Given the description of an element on the screen output the (x, y) to click on. 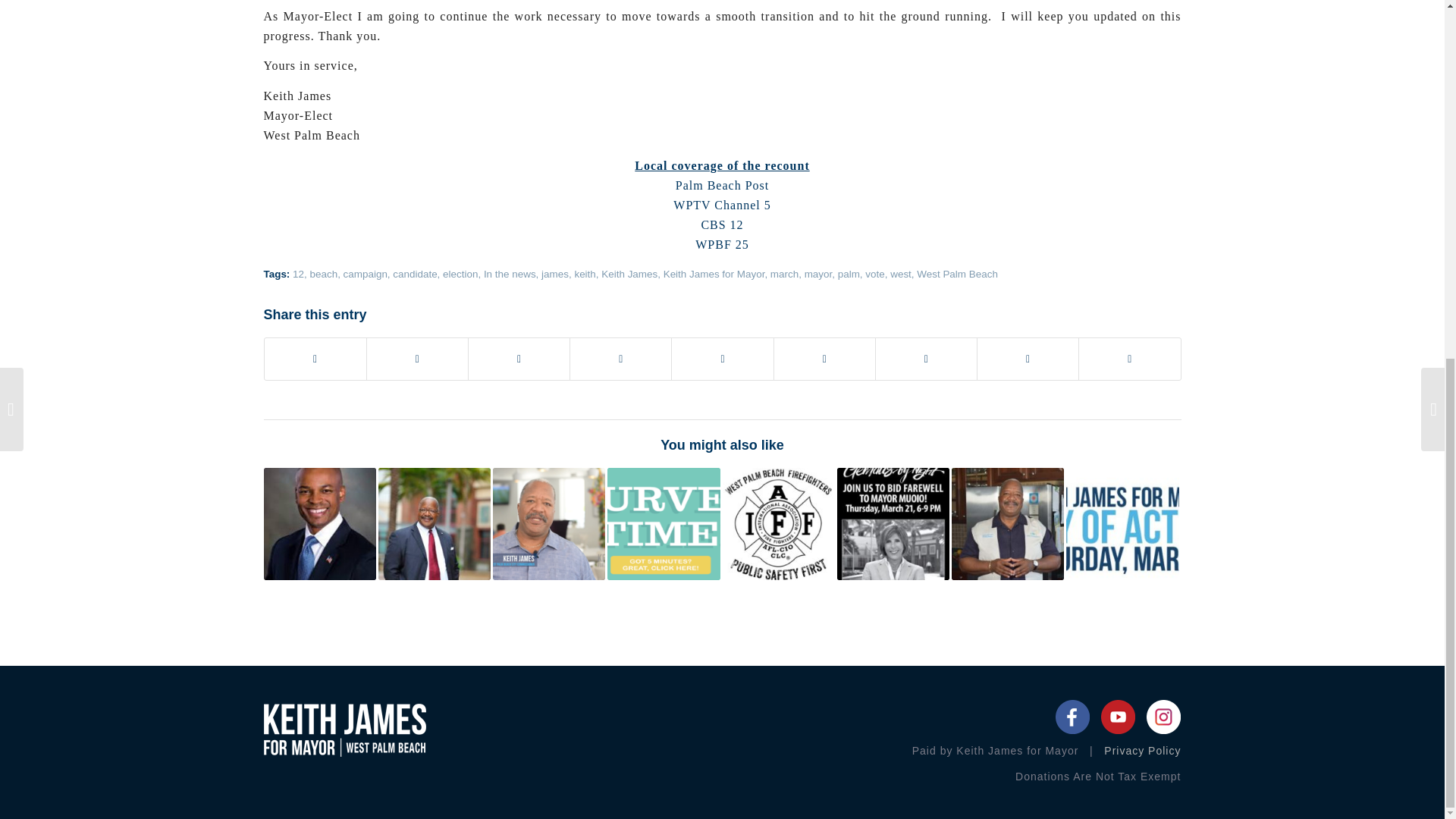
WPTV Channel 5 (721, 205)
WPBF 25 (722, 244)
Keith James (629, 274)
march (783, 274)
CBS 12 (721, 224)
candidate (414, 274)
Palm Beach Post (721, 185)
mayor (818, 274)
west (900, 274)
Keith James for Mayor (714, 274)
keith (584, 274)
Breaking News: WPB Commissioners Endorse Keith (434, 523)
Latest Video Update (549, 523)
12 (298, 274)
In the news (509, 274)
